Given the description of an element on the screen output the (x, y) to click on. 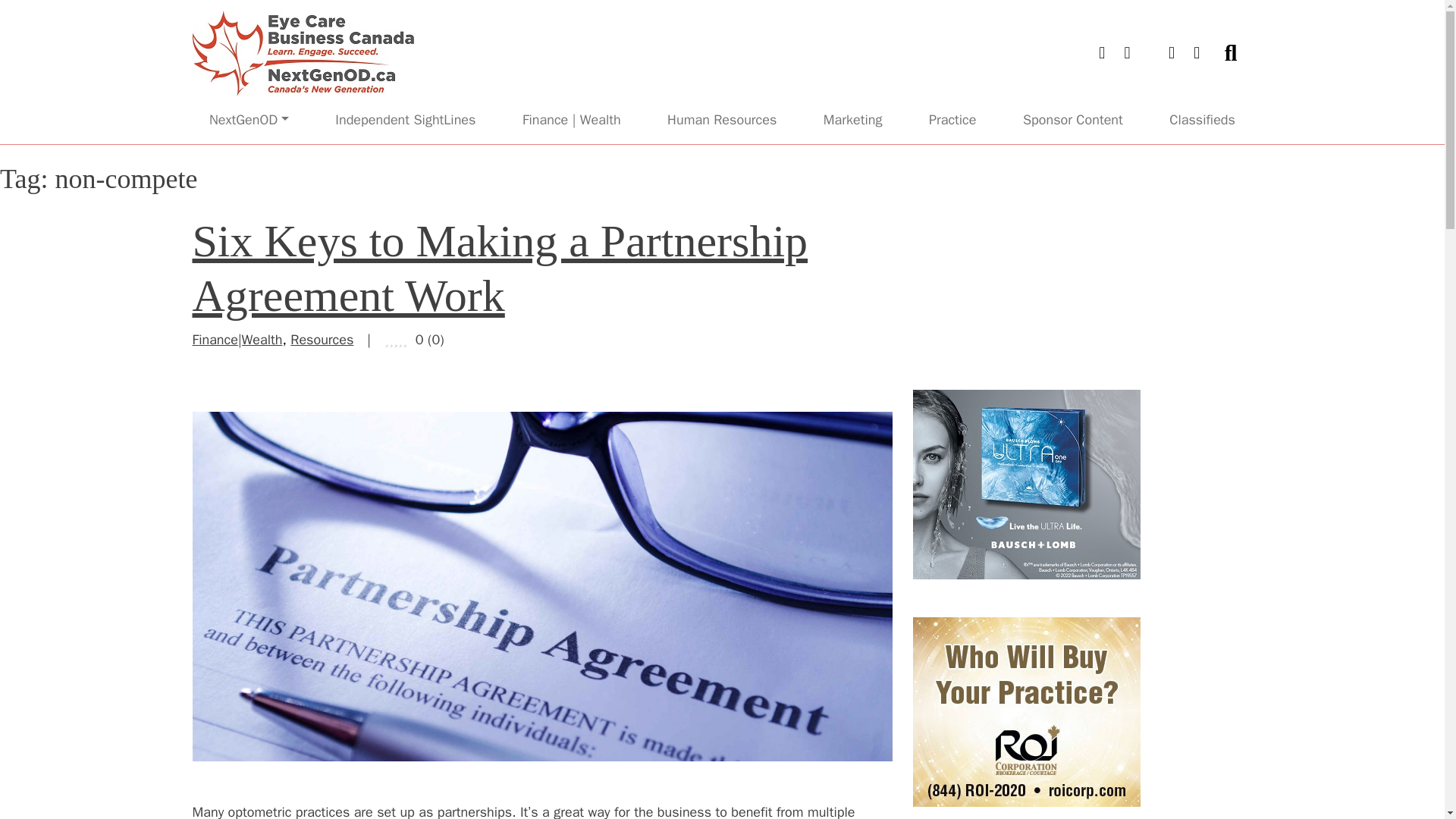
NextGenOD (248, 120)
Human Resources (722, 120)
Classifieds (1201, 120)
Sponsor Content (1072, 120)
Marketing (852, 120)
Independent SightLines (405, 120)
Practice (952, 120)
